Given the description of an element on the screen output the (x, y) to click on. 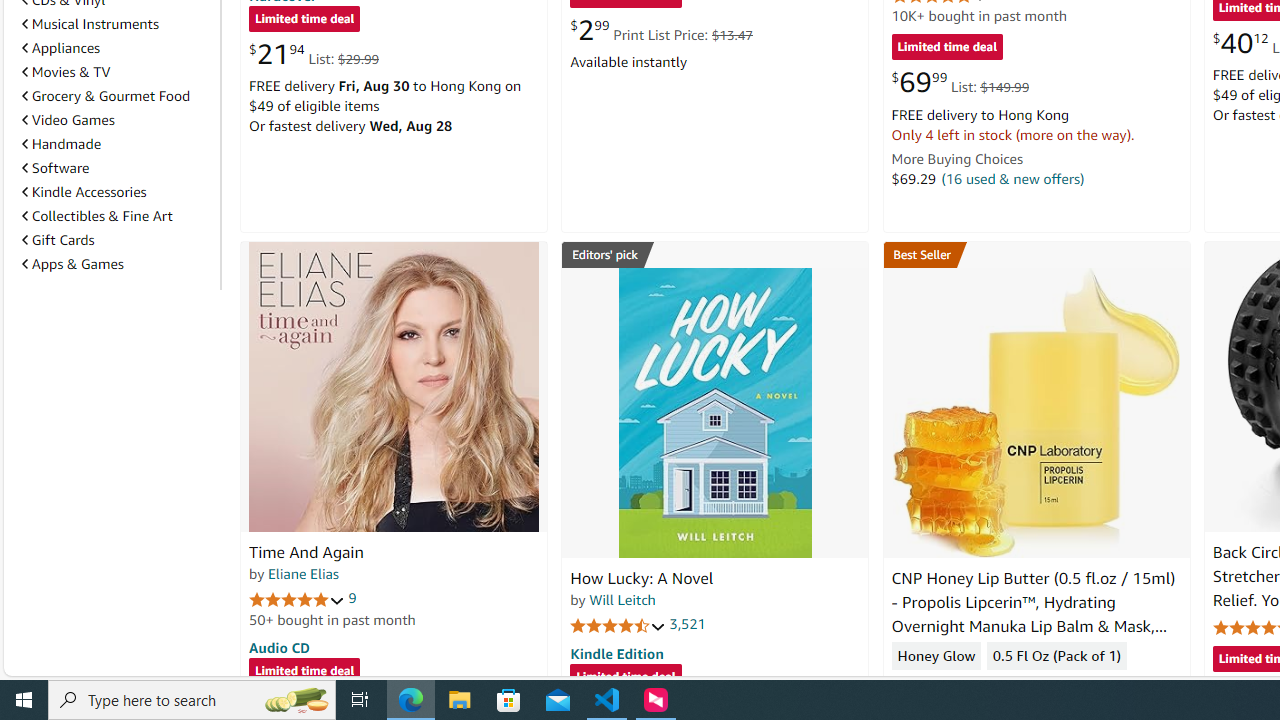
Time And Again (393, 386)
4.3 out of 5 stars (939, 685)
Software (55, 168)
5.0 out of 5 stars (297, 598)
Eliane Elias (303, 573)
Best Seller in Lip Butters (1036, 254)
Video Games (117, 120)
Gift Cards (57, 240)
Kindle Accessories (84, 191)
Apps & Games (117, 264)
Grocery & Gourmet Food (105, 96)
How Lucky: A Novel (714, 412)
Handmade (117, 143)
How Lucky: A Novel (641, 578)
